Given the description of an element on the screen output the (x, y) to click on. 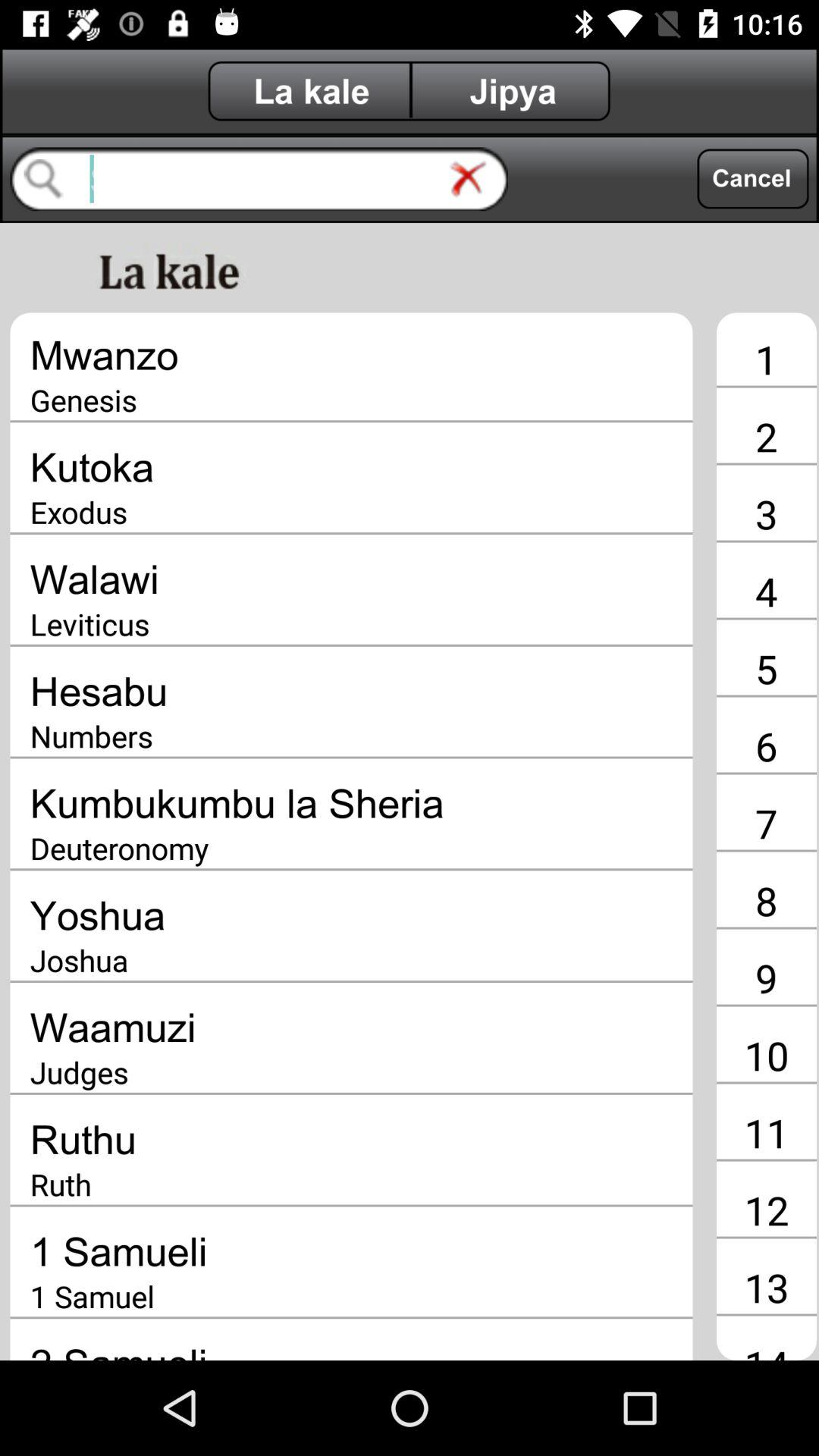
open app to the right of 2 samueli icon (766, 1349)
